Given the description of an element on the screen output the (x, y) to click on. 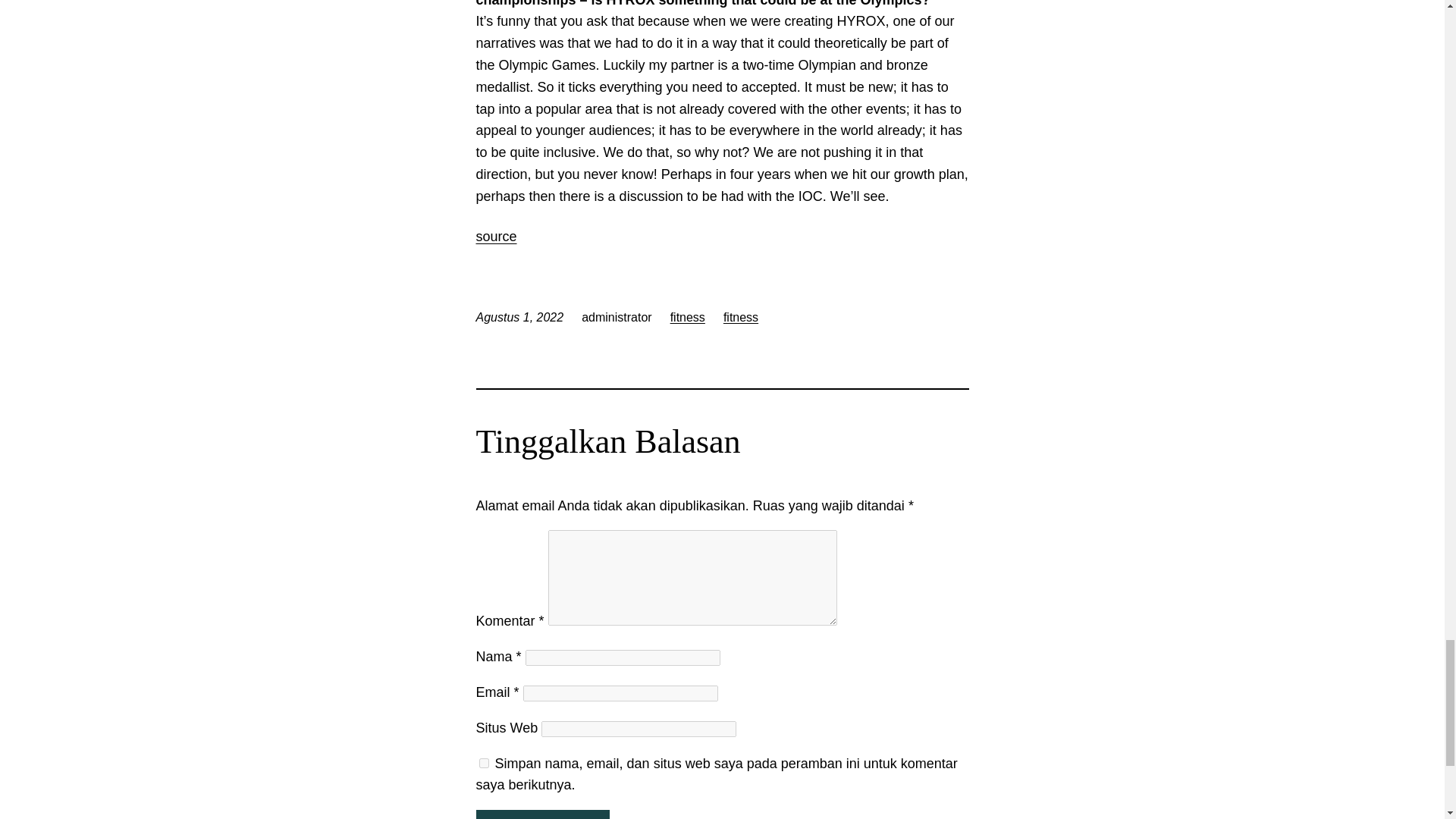
Kirim Komentar (543, 814)
Kirim Komentar (543, 814)
fitness (686, 317)
yes (484, 763)
fitness (740, 317)
source (496, 236)
